Given the description of an element on the screen output the (x, y) to click on. 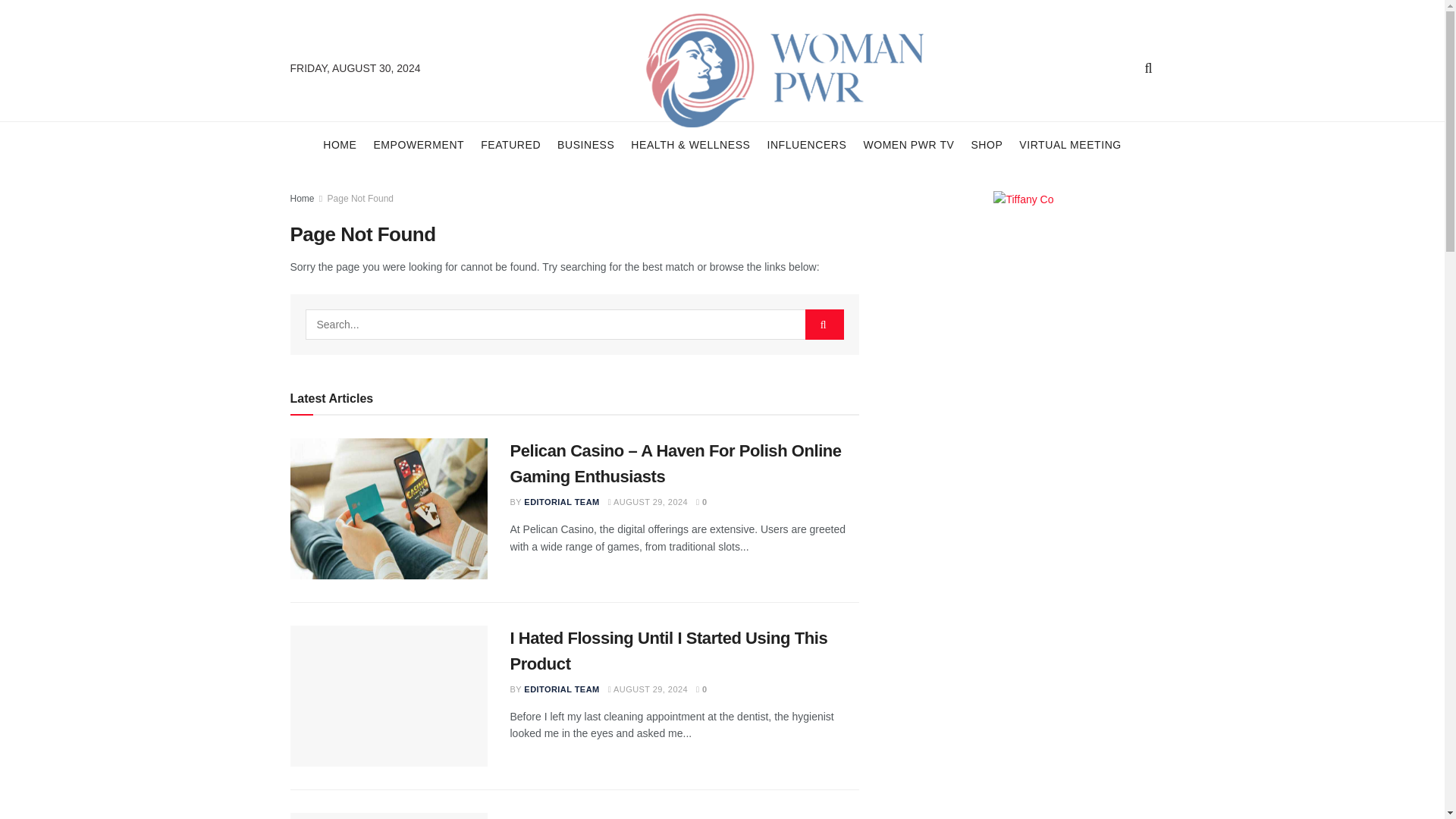
Page Not Found (360, 198)
AUGUST 29, 2024 (647, 501)
BUSINESS (585, 144)
EMPOWERMENT (418, 144)
VIRTUAL MEETING (1070, 144)
INFLUENCERS (806, 144)
FEATURED (510, 144)
0 (701, 501)
I Hated Flossing Until I Started Using This Product (668, 650)
EDITORIAL TEAM (561, 501)
